Given the description of an element on the screen output the (x, y) to click on. 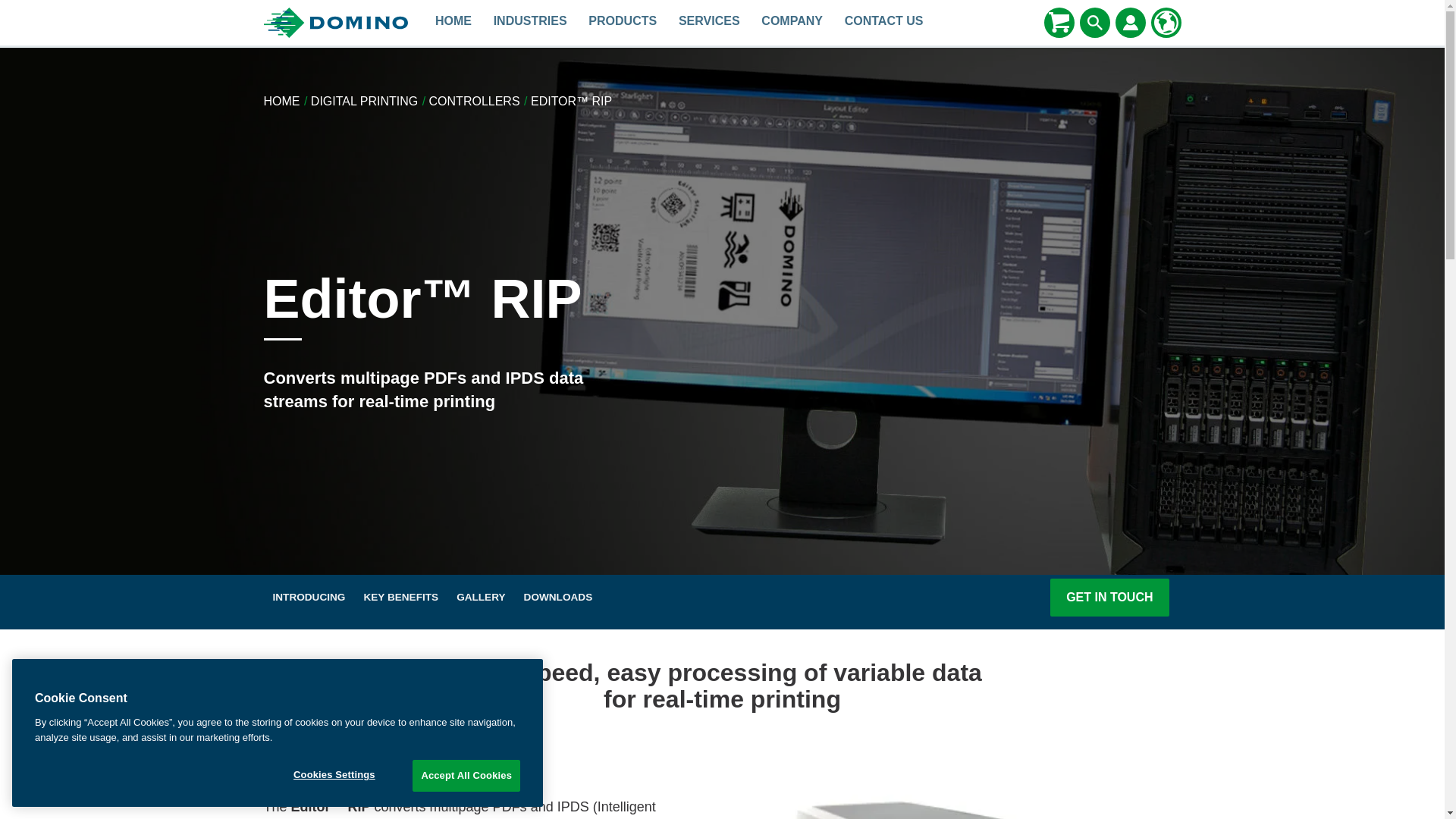
Search (1094, 22)
Search (1094, 22)
Change Region (1165, 22)
Services (709, 22)
MyDomino Portals (1129, 22)
BuyDomino (1058, 22)
industries (529, 22)
contact us (882, 22)
BuyDomino (1058, 22)
products (623, 22)
